Given the description of an element on the screen output the (x, y) to click on. 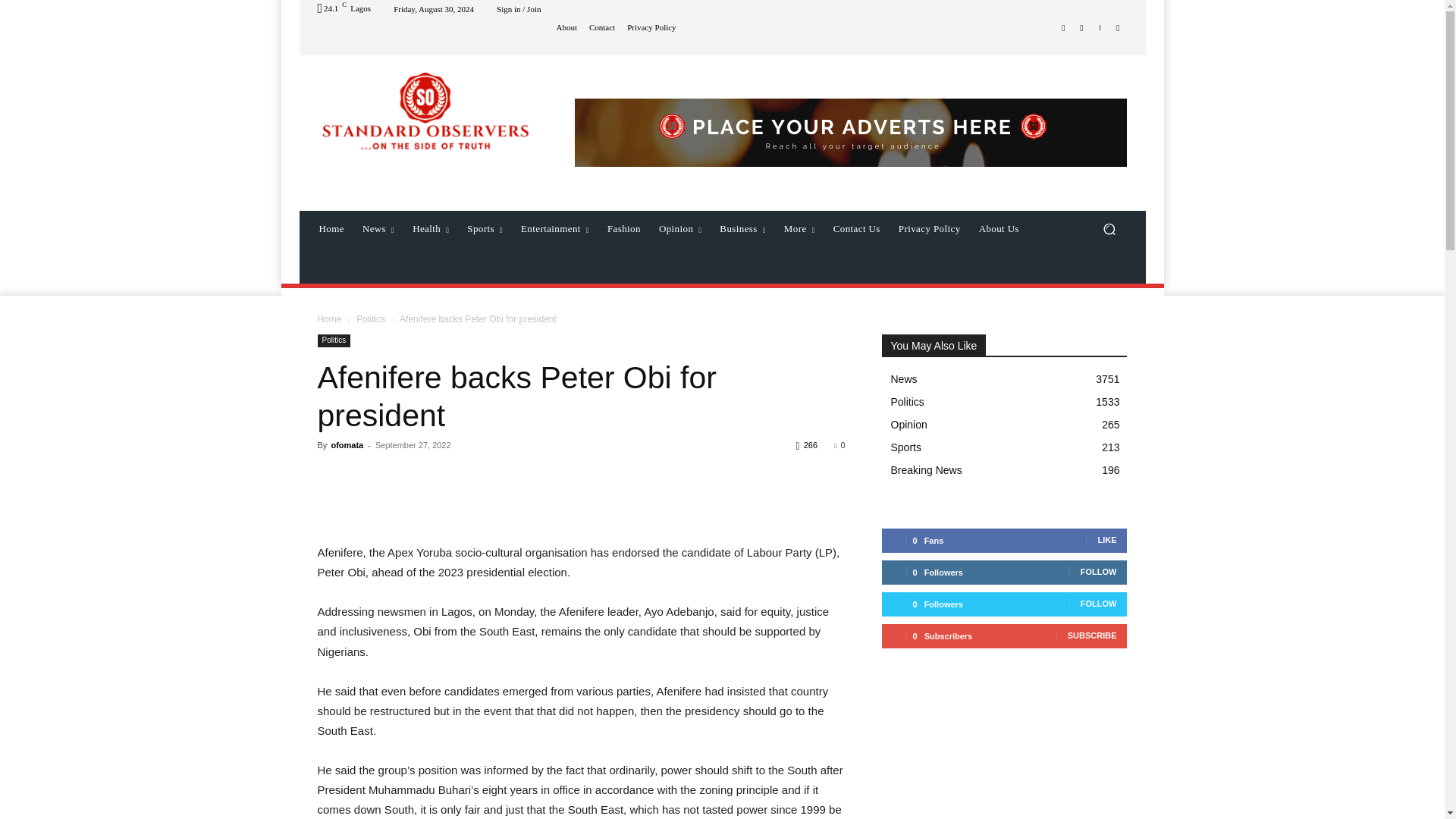
About (566, 27)
Twitter (1099, 27)
Facebook (1062, 27)
Youtube (1117, 27)
Contact (601, 27)
Instagram (1080, 27)
Privacy Policy (651, 27)
